Given the description of an element on the screen output the (x, y) to click on. 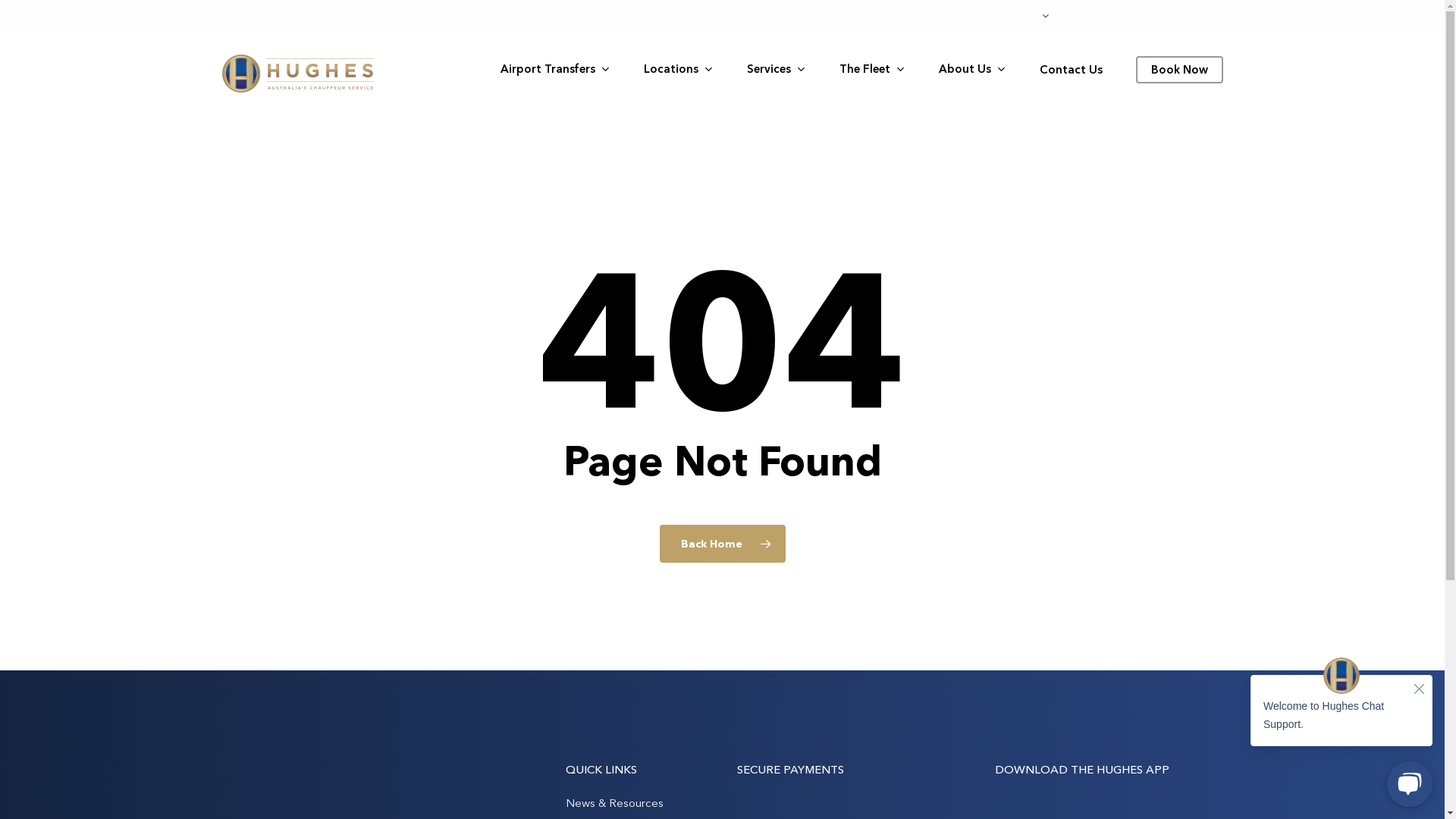
Services Element type: text (775, 68)
Book Now Element type: text (1179, 69)
Accounts Element type: text (1018, 16)
Join The Fleet Element type: text (930, 16)
Reviews Element type: text (1095, 16)
Contact Us Element type: text (1069, 69)
The Fleet Element type: text (871, 68)
Back Home Element type: text (722, 543)
Locations Element type: text (677, 68)
About Us Element type: text (972, 68)
Airport Transfers Element type: text (555, 68)
News & Resources Element type: text (614, 802)
1300 615 165 Element type: text (1183, 15)
